Given the description of an element on the screen output the (x, y) to click on. 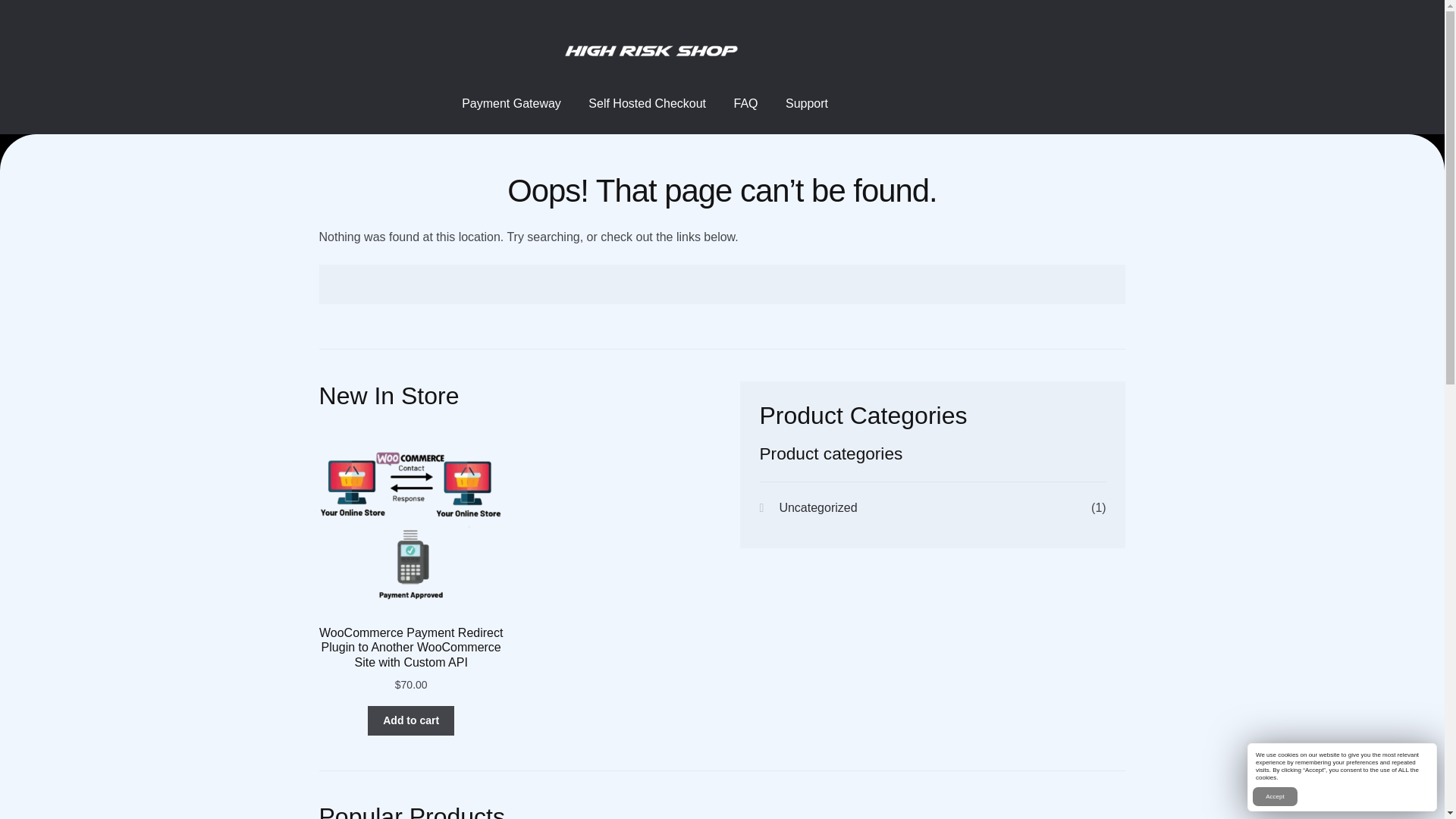
Support (806, 103)
Add to cart (411, 720)
Accept (1274, 796)
Self Hosted Checkout (646, 103)
Uncategorized (817, 507)
Payment Gateway (511, 103)
